Given the description of an element on the screen output the (x, y) to click on. 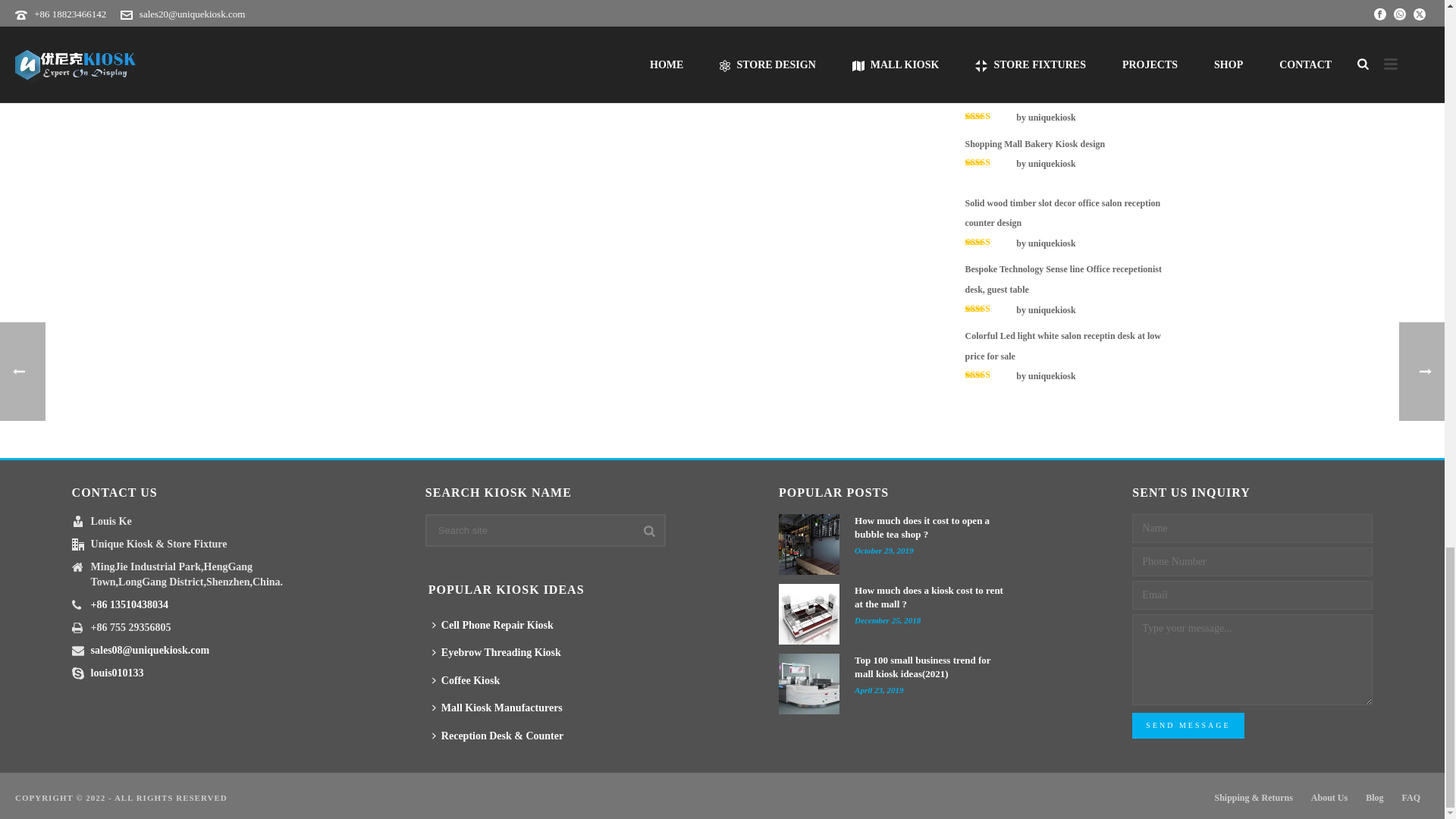
Rated 5 out of 5 (988, 49)
